Given the description of an element on the screen output the (x, y) to click on. 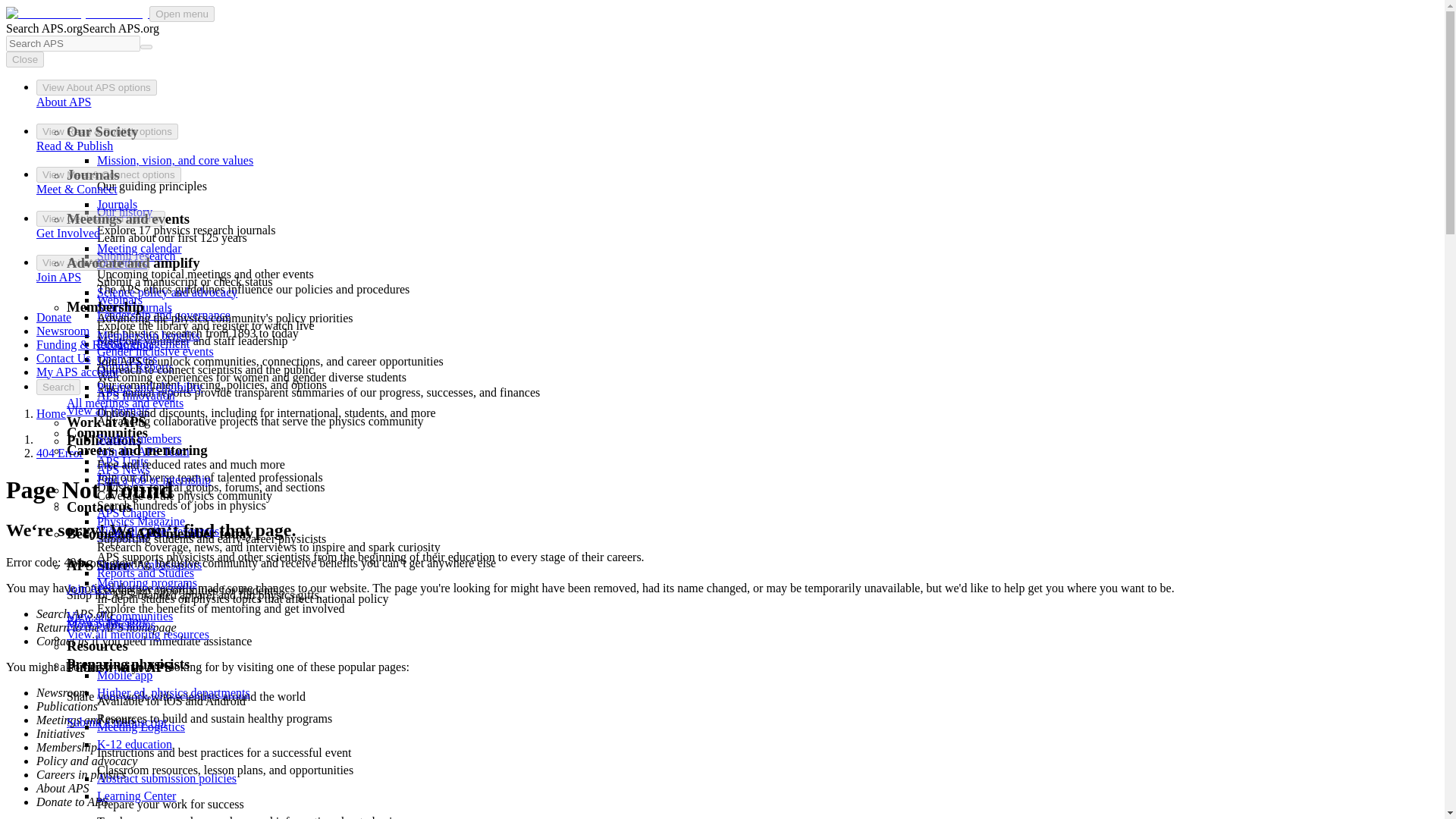
Abstract submission policies (166, 778)
View all journals (107, 410)
Journals (116, 204)
Join the APS Team (143, 451)
Submit research (136, 255)
More publications (110, 624)
Student Ambassadors (149, 563)
View About APS options (96, 87)
Open access (127, 358)
View all communities (119, 615)
